Given the description of an element on the screen output the (x, y) to click on. 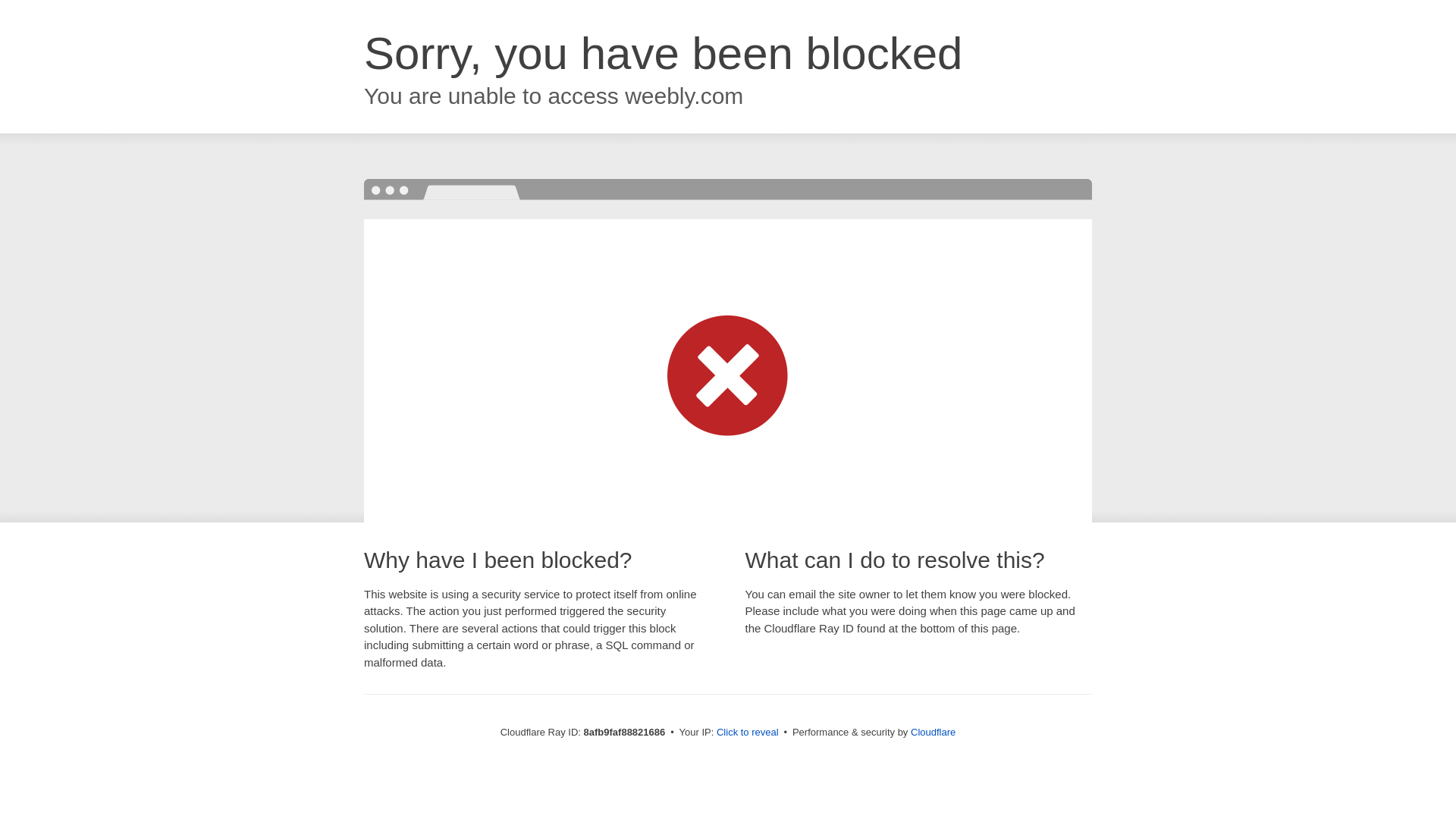
Click to reveal (747, 732)
Cloudflare (933, 731)
